Given the description of an element on the screen output the (x, y) to click on. 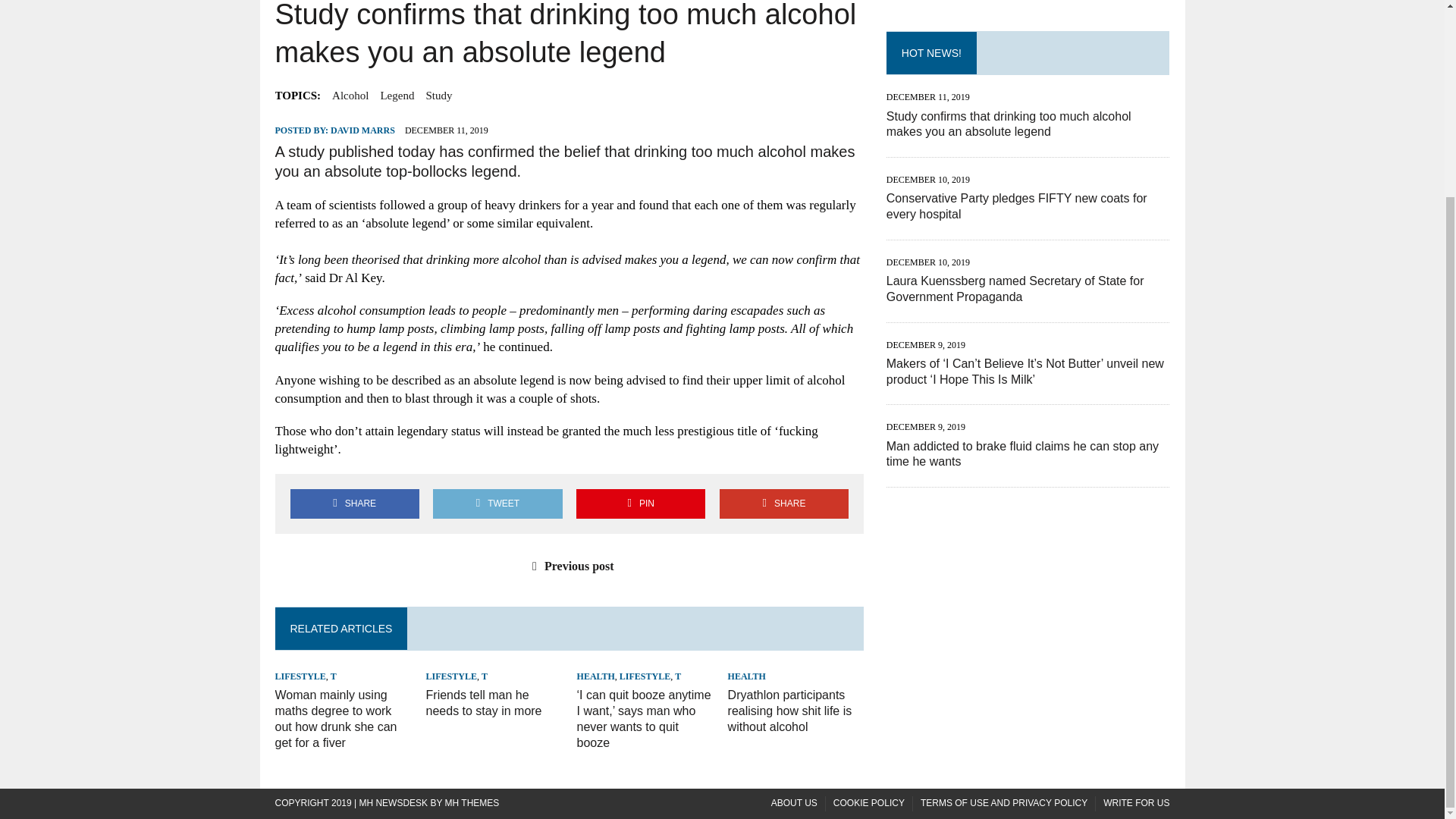
Tweet This Post (497, 503)
Alcohol (349, 95)
Previous post (569, 565)
Share on Facebook (354, 503)
Friends tell man he needs to stay in more (483, 702)
LIFESTYLE (299, 675)
SHARE (354, 503)
Pin This Post (640, 503)
PIN (640, 503)
Study (438, 95)
Legend (396, 95)
SHARE (783, 503)
TWEET (497, 503)
